Given the description of an element on the screen output the (x, y) to click on. 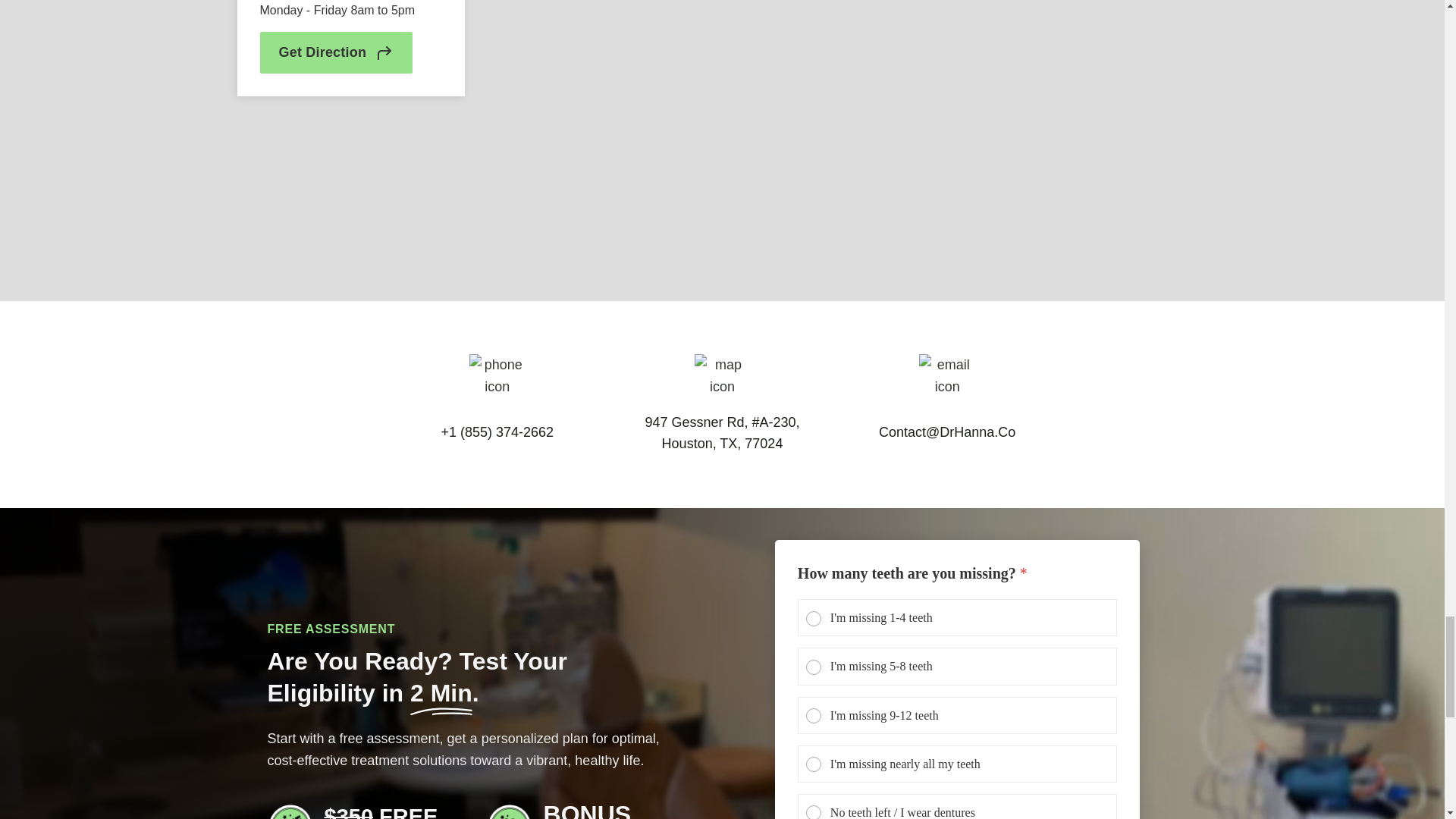
I'm missing 9-12 teeth (814, 716)
I'm missing nearly all my teeth (814, 765)
I'm missing 5-8 teeth (814, 667)
I'm missing 1-4 teeth (814, 619)
